Given the description of an element on the screen output the (x, y) to click on. 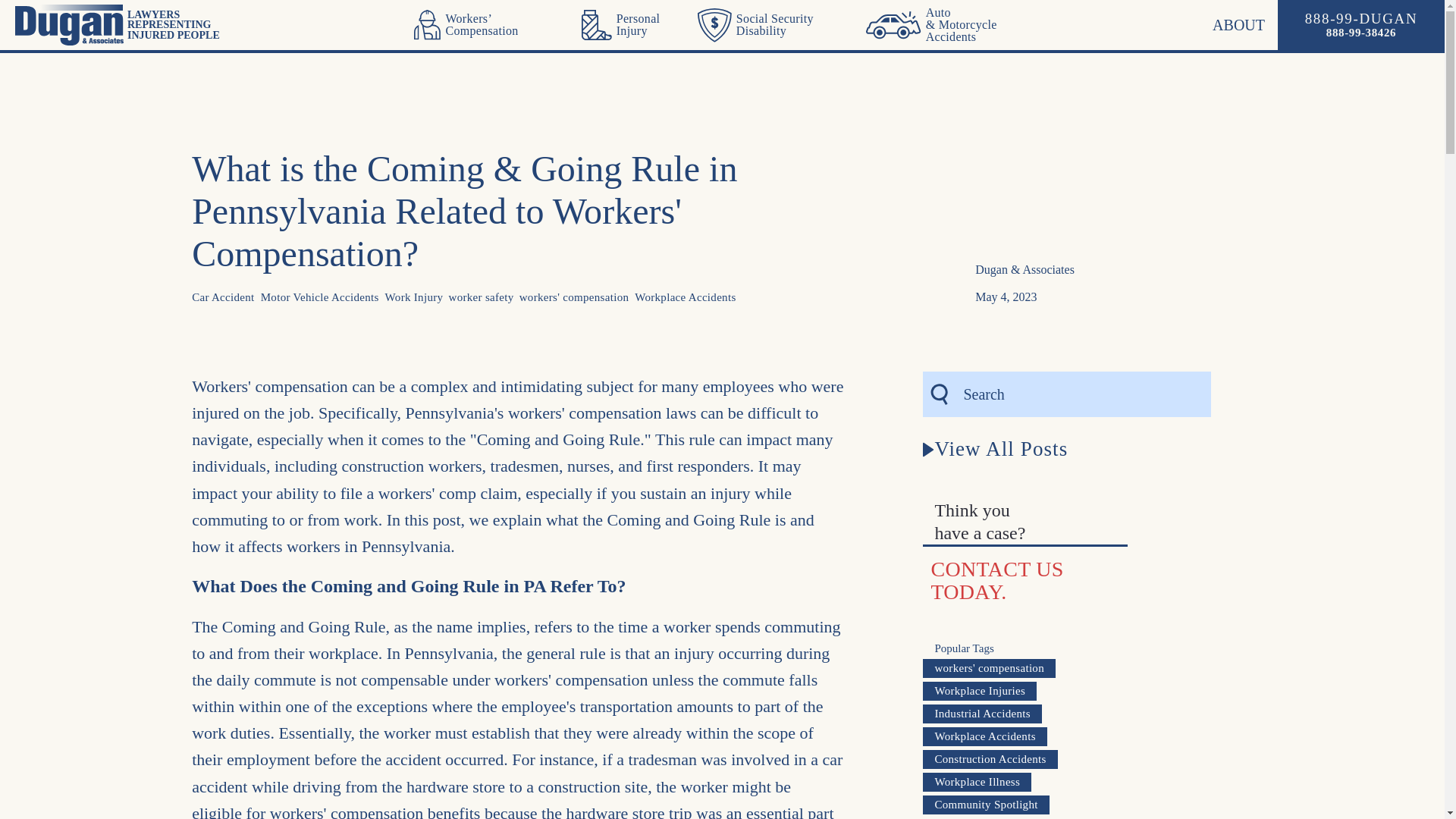
Motor Vehicle Accidents (319, 297)
workers' compensation (989, 668)
Industrial Accidents (982, 713)
View All Posts (995, 449)
Personal Injury (128, 24)
Workplace Accidents (632, 24)
Construction Accidents (984, 736)
Workplace Illness (990, 759)
workers' compensation (976, 782)
CONTACT US TODAY. (573, 297)
Community Spotlight (1028, 580)
Search (985, 804)
Workplace Accidents (1006, 438)
Workplace Injuries (684, 297)
